Given the description of an element on the screen output the (x, y) to click on. 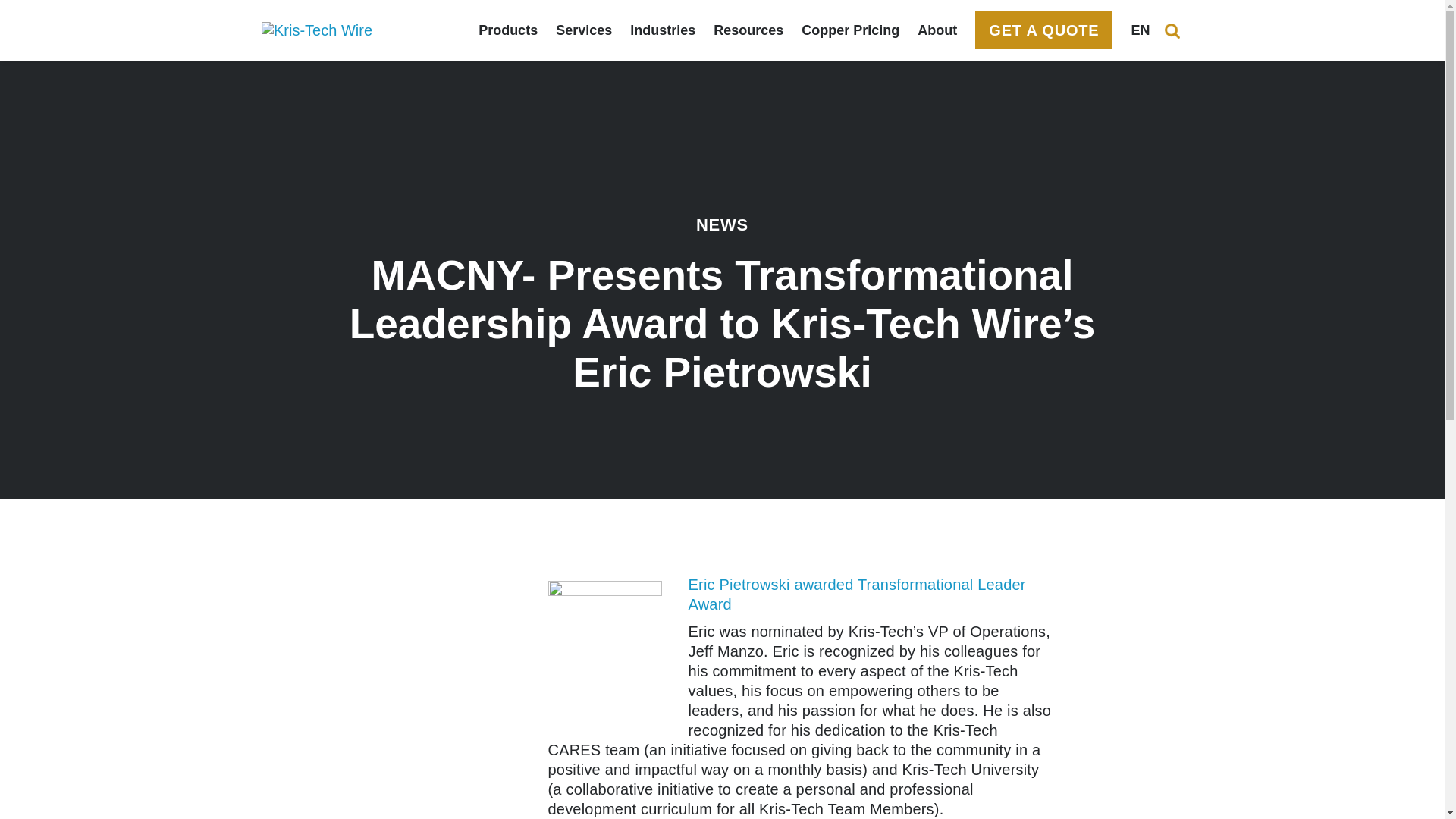
Products (508, 30)
Copper Pricing (850, 30)
Resources (748, 30)
Eric Pietrowski awarded Transformational Leader Award (857, 594)
Products (508, 30)
Services (583, 30)
Services (583, 30)
Copper Pricing (850, 30)
GET A QUOTE (1043, 30)
Resources (748, 30)
